Given the description of an element on the screen output the (x, y) to click on. 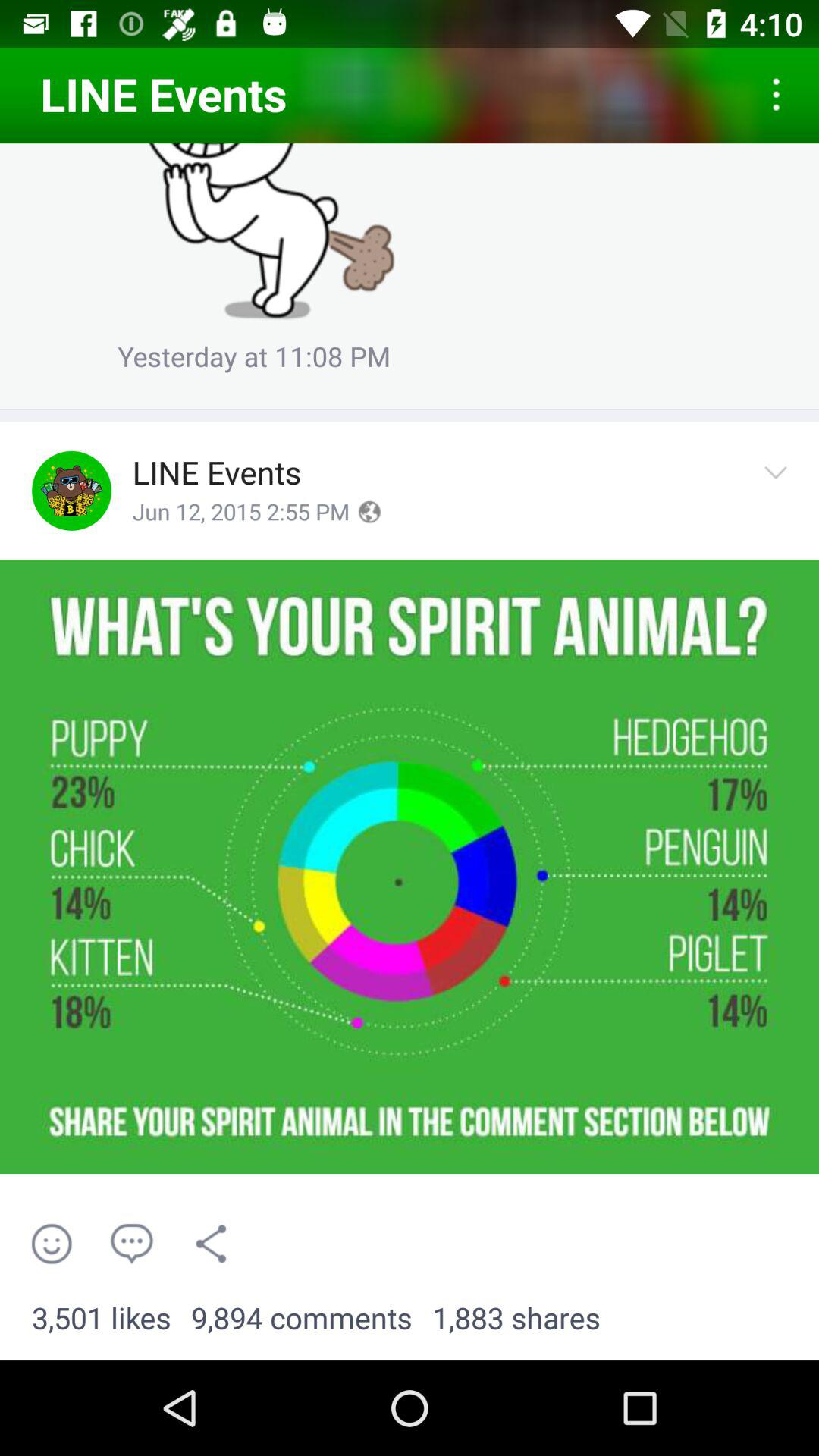
jump to the yesterday at 11 icon (253, 362)
